Given the description of an element on the screen output the (x, y) to click on. 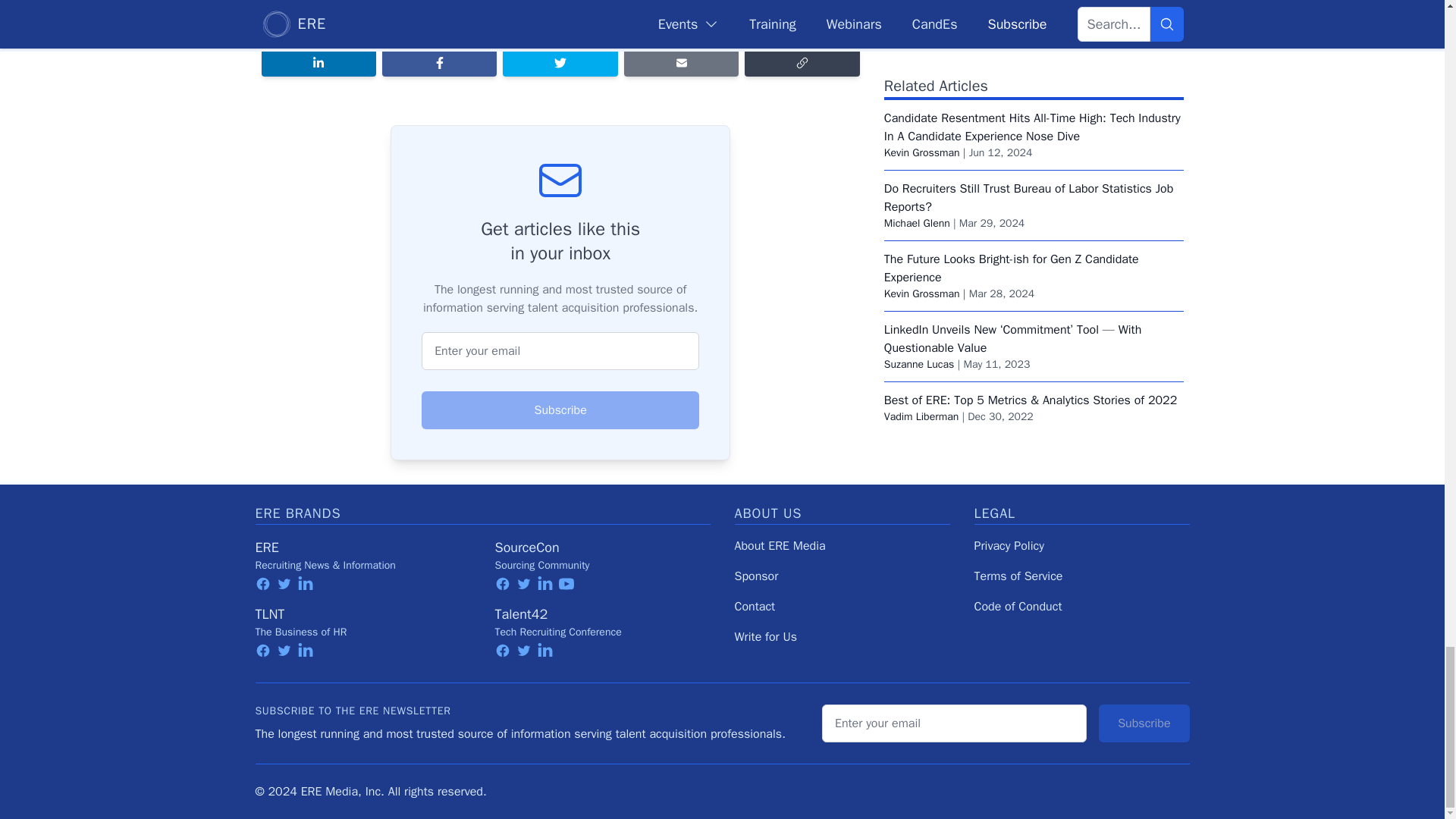
Subscribe (560, 410)
